Given the description of an element on the screen output the (x, y) to click on. 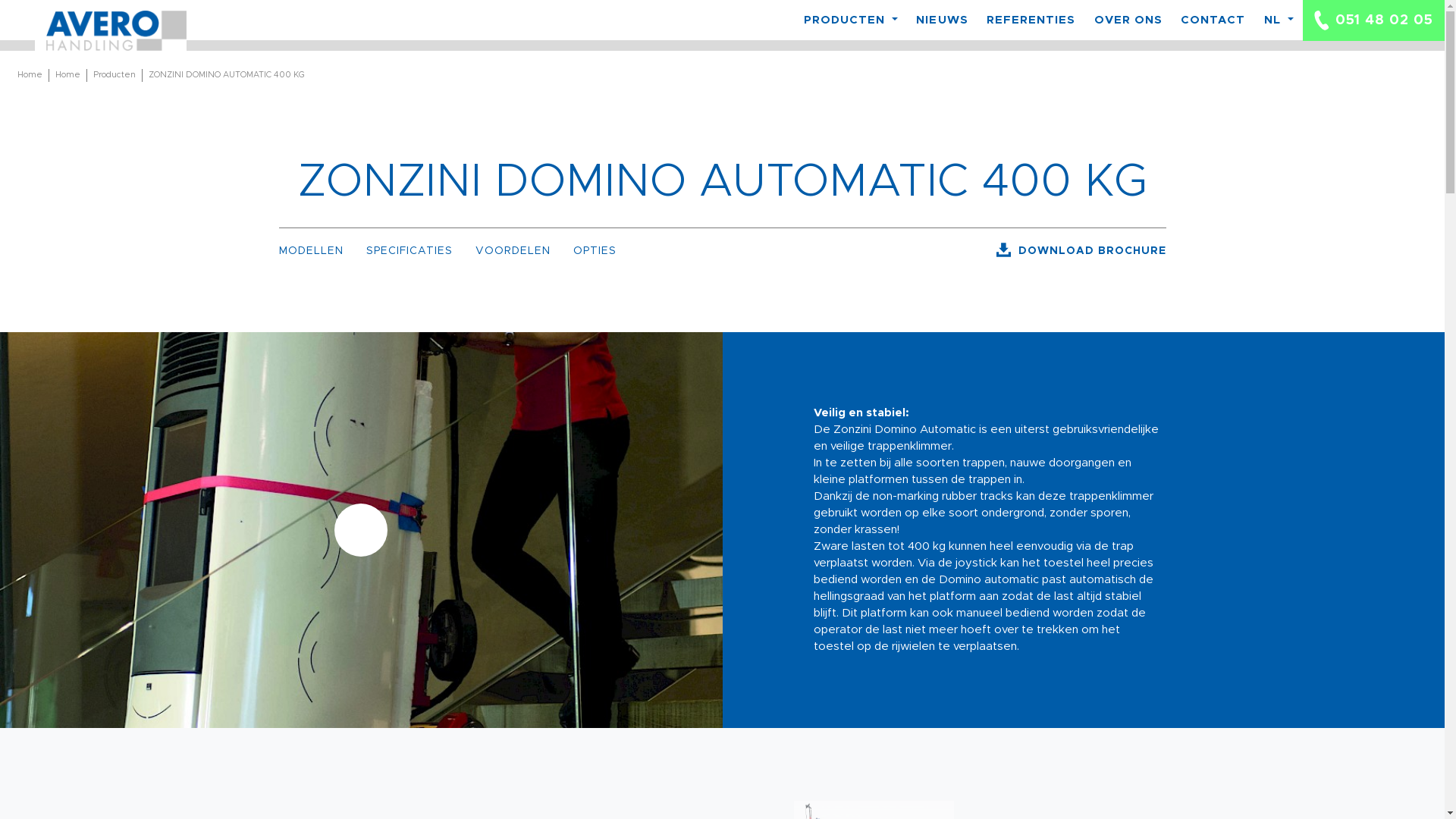
PRODUCTEN Element type: text (855, 20)
NL Element type: text (1278, 20)
VOORDELEN Element type: text (511, 242)
Producten Element type: text (114, 75)
ZONZINI DOMINO AUTOMATIC 400 KG Element type: text (226, 75)
CONTACT Element type: text (1213, 20)
NIEUWS Element type: text (941, 20)
Avero handling Element type: hover (110, 30)
051 48 02 05 Element type: text (1373, 20)
REFERENTIES Element type: text (1031, 20)
OVER ONS Element type: text (1127, 20)
MODELLEN Element type: text (311, 242)
Home Element type: text (30, 75)
SPECIFICATIES Element type: text (408, 242)
Home Element type: text (68, 75)
OPTIES Element type: text (594, 242)
DOWNLOAD BROCHURE Element type: text (1081, 250)
